Given the description of an element on the screen output the (x, y) to click on. 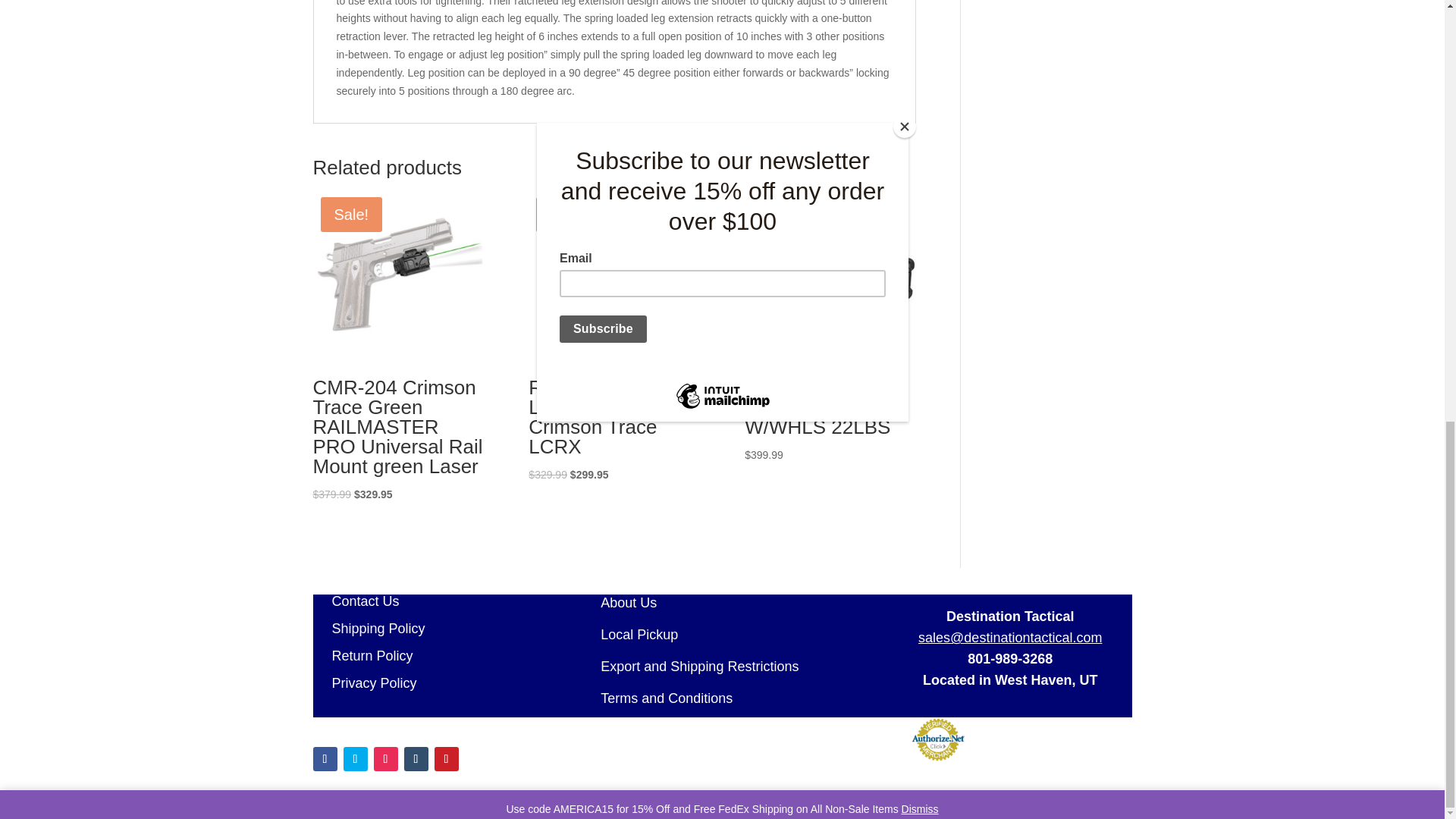
Contact Us (355, 601)
Return Policy (362, 655)
Shipping Policy (369, 628)
